Given the description of an element on the screen output the (x, y) to click on. 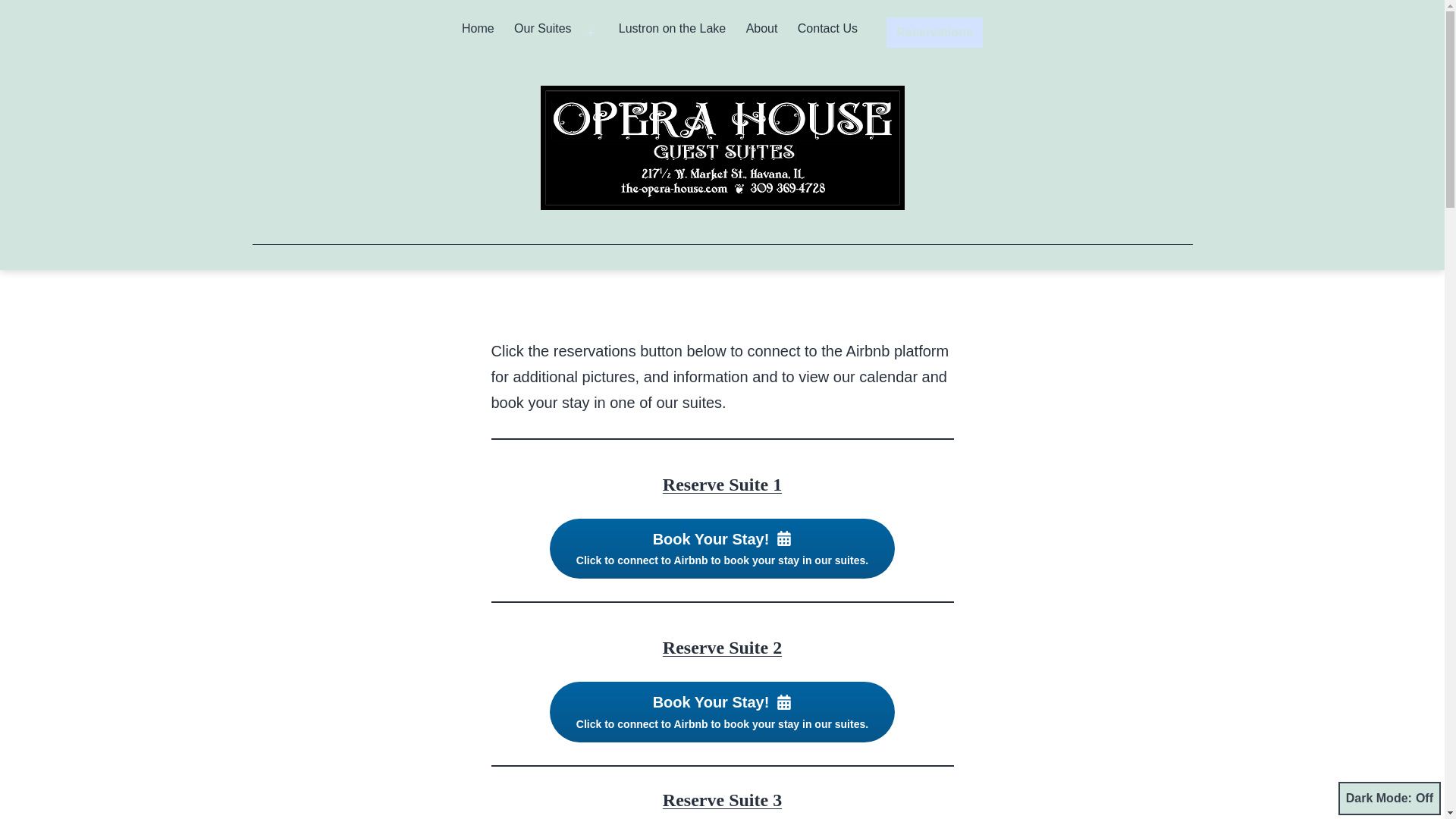
Dark Mode: (1389, 798)
Home (477, 32)
Reserve Suite 2 (721, 647)
Reservations (934, 32)
Contact Us (827, 32)
About (761, 32)
Lustron on the Lake (672, 32)
Our Suites (541, 32)
Reserve Suite 1 (721, 484)
Reserve Suite 3 (721, 799)
